Given the description of an element on the screen output the (x, y) to click on. 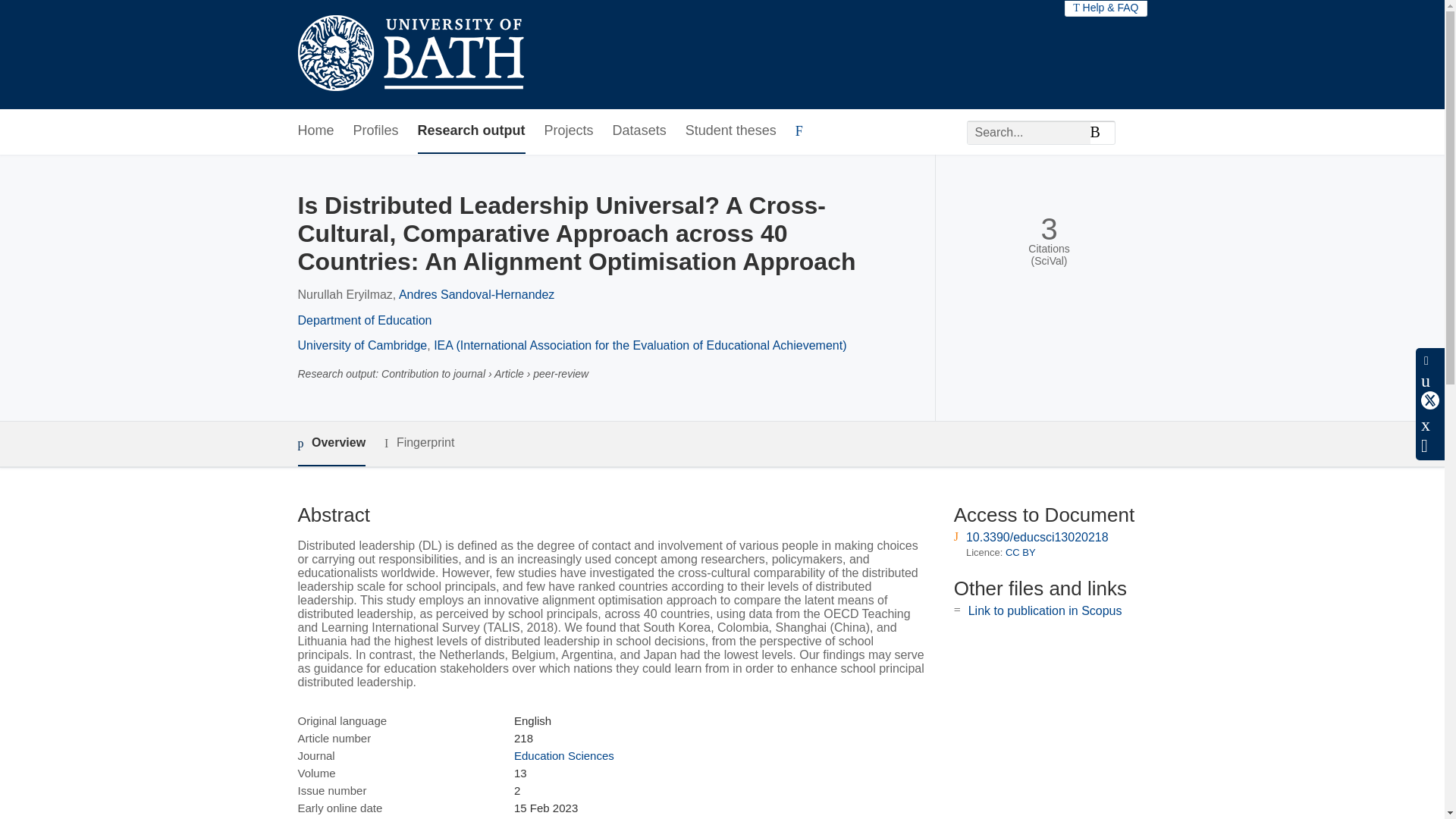
Projects (569, 130)
Research output (471, 130)
Student theses (730, 130)
University of Cambridge (361, 345)
Overview (331, 443)
Department of Education (363, 319)
the University of Bath's research portal Home (409, 54)
CC BY (1020, 552)
Fingerprint (419, 443)
